Given the description of an element on the screen output the (x, y) to click on. 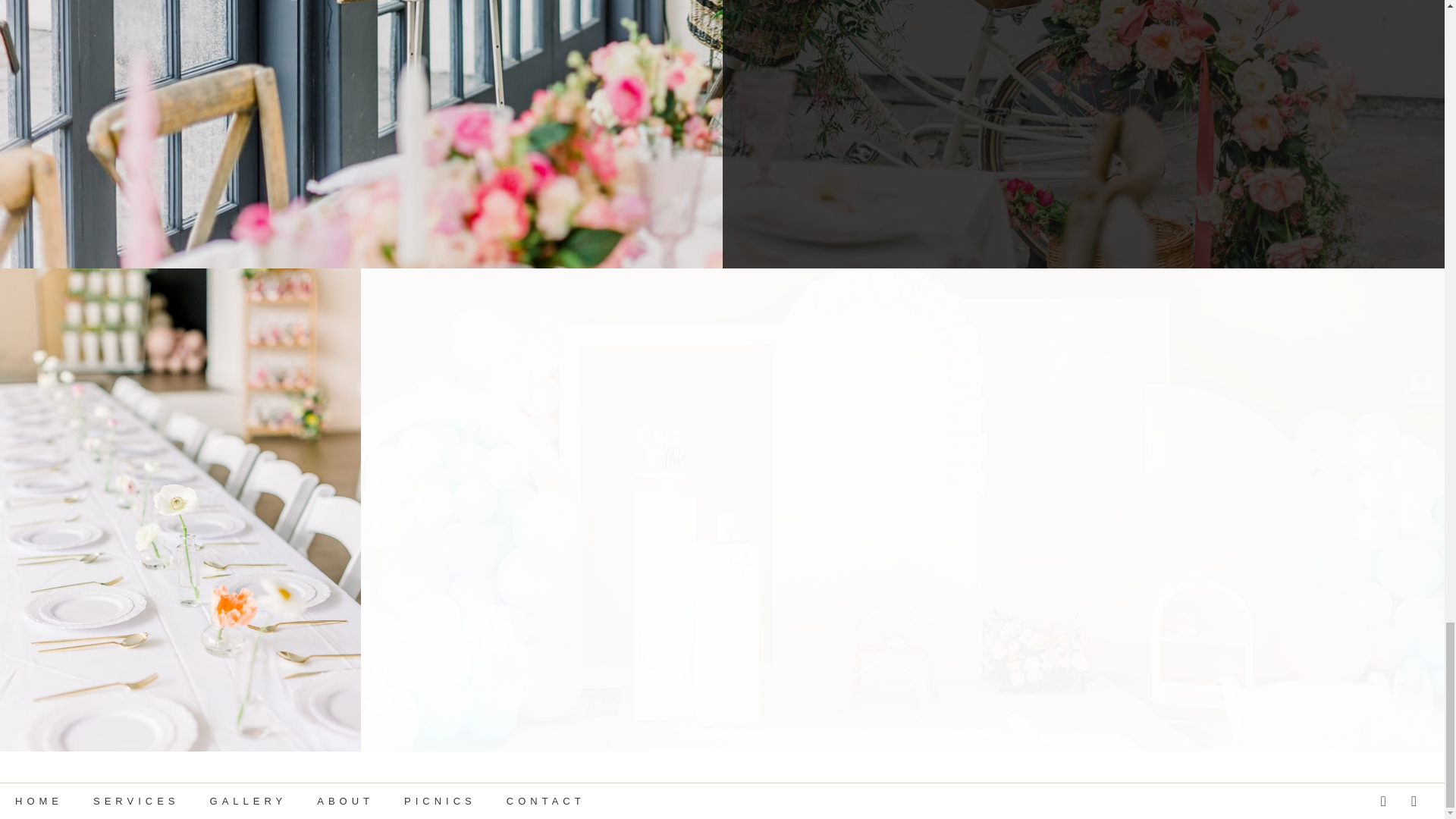
PACIFIC GROVE (623, 802)
PHOTOGRAPHY WEB DESIGNS (386, 802)
MONTEREY (526, 802)
CARMEL (711, 802)
